Given the description of an element on the screen output the (x, y) to click on. 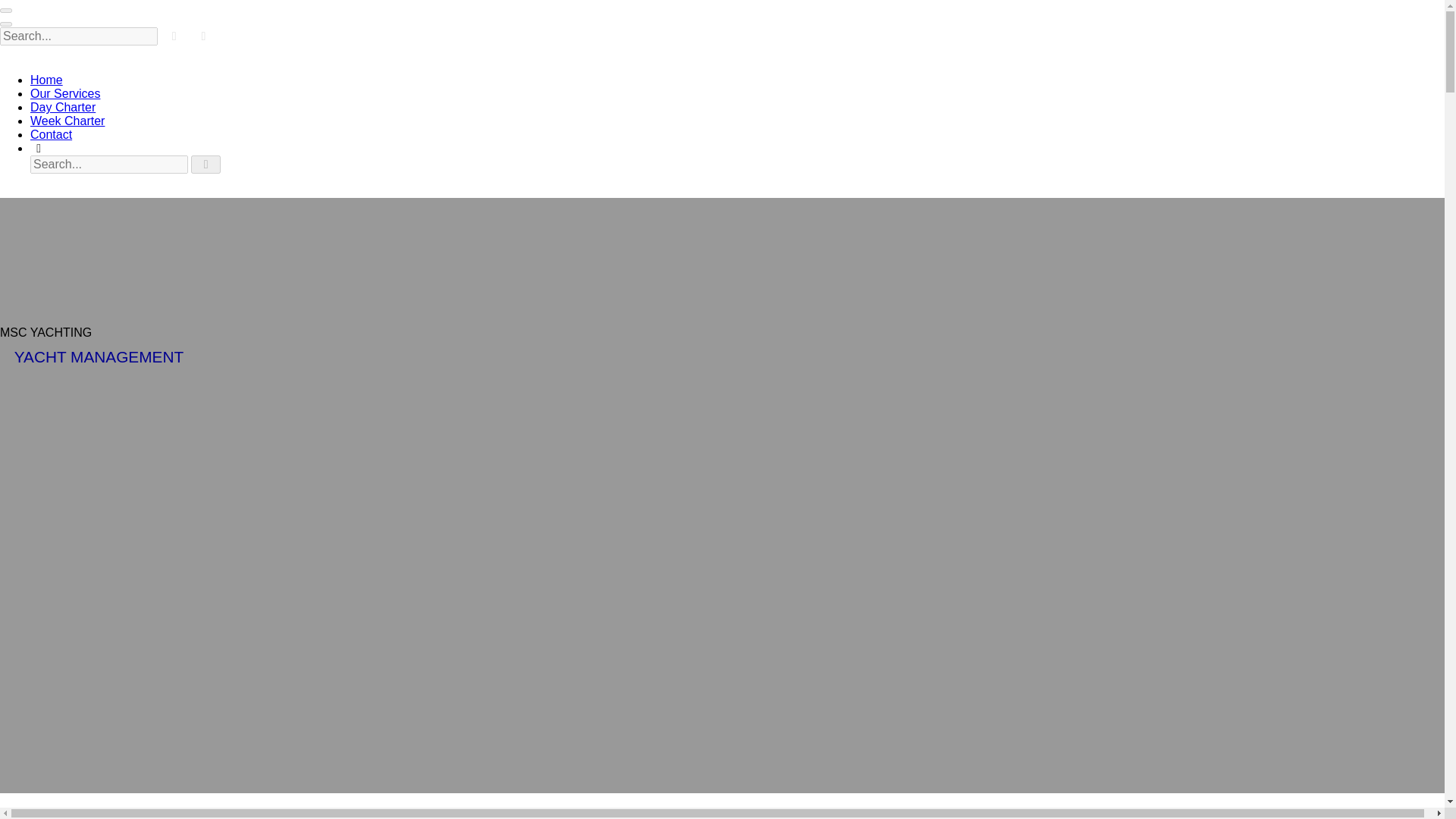
Our Services (65, 92)
Search (38, 147)
Home (46, 79)
